Given the description of an element on the screen output the (x, y) to click on. 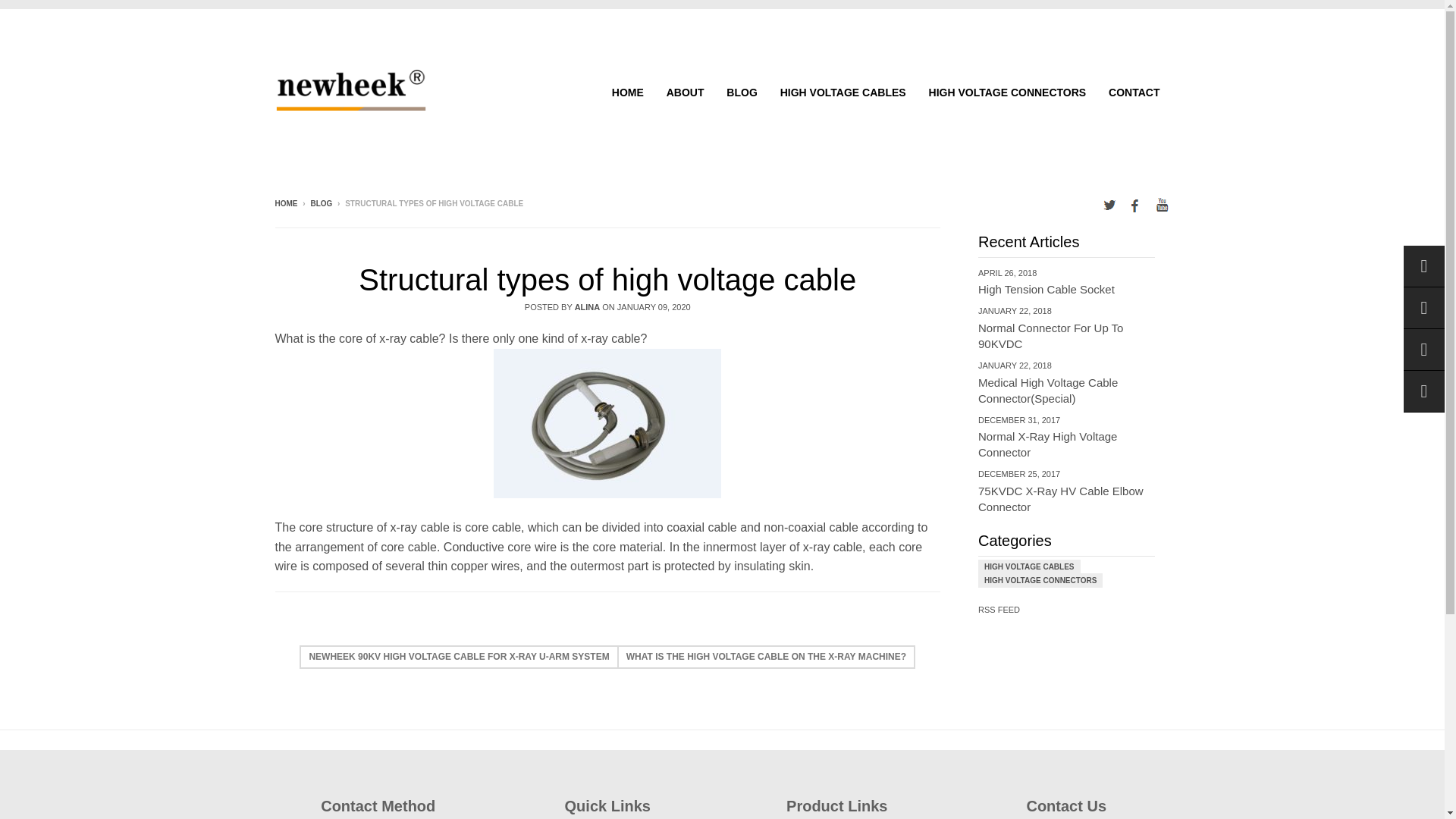
WHAT IS THE HIGH VOLTAGE CABLE ON THE X-RAY MACHINE? (766, 657)
HOME (627, 92)
HIGH VOLTAGE CONNECTORS (1040, 580)
HIGH VOLTAGE CABLES (1029, 566)
HIGH VOLTAGE CONNECTORS (1066, 436)
ABOUT (1007, 92)
HOME (685, 92)
HIGH VOLTAGE CABLES (286, 203)
Structural types of high voltage cable (1066, 490)
RSS FEED (842, 92)
